Given the description of an element on the screen output the (x, y) to click on. 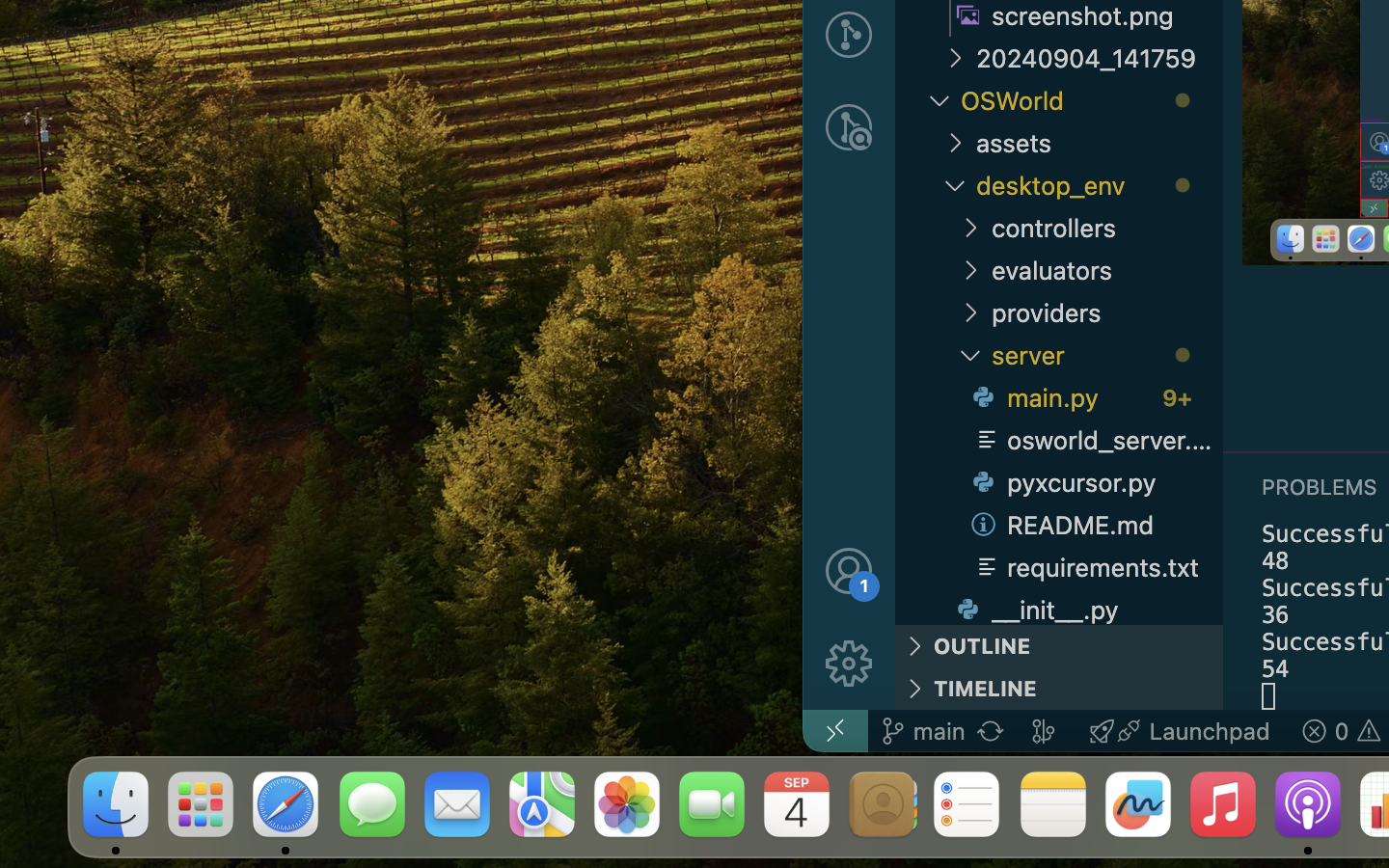
main.py  9+ Element type: AXGroup (1093, 397)
requirements.txt  Element type: AXGroup (1093, 566)
__init__.py  Element type: AXGroup (1086, 606)
pyxcursor.py  Element type: AXGroup (1093, 482)
controllers Element type: AXGroup (1107, 227)
